Given the description of an element on the screen output the (x, y) to click on. 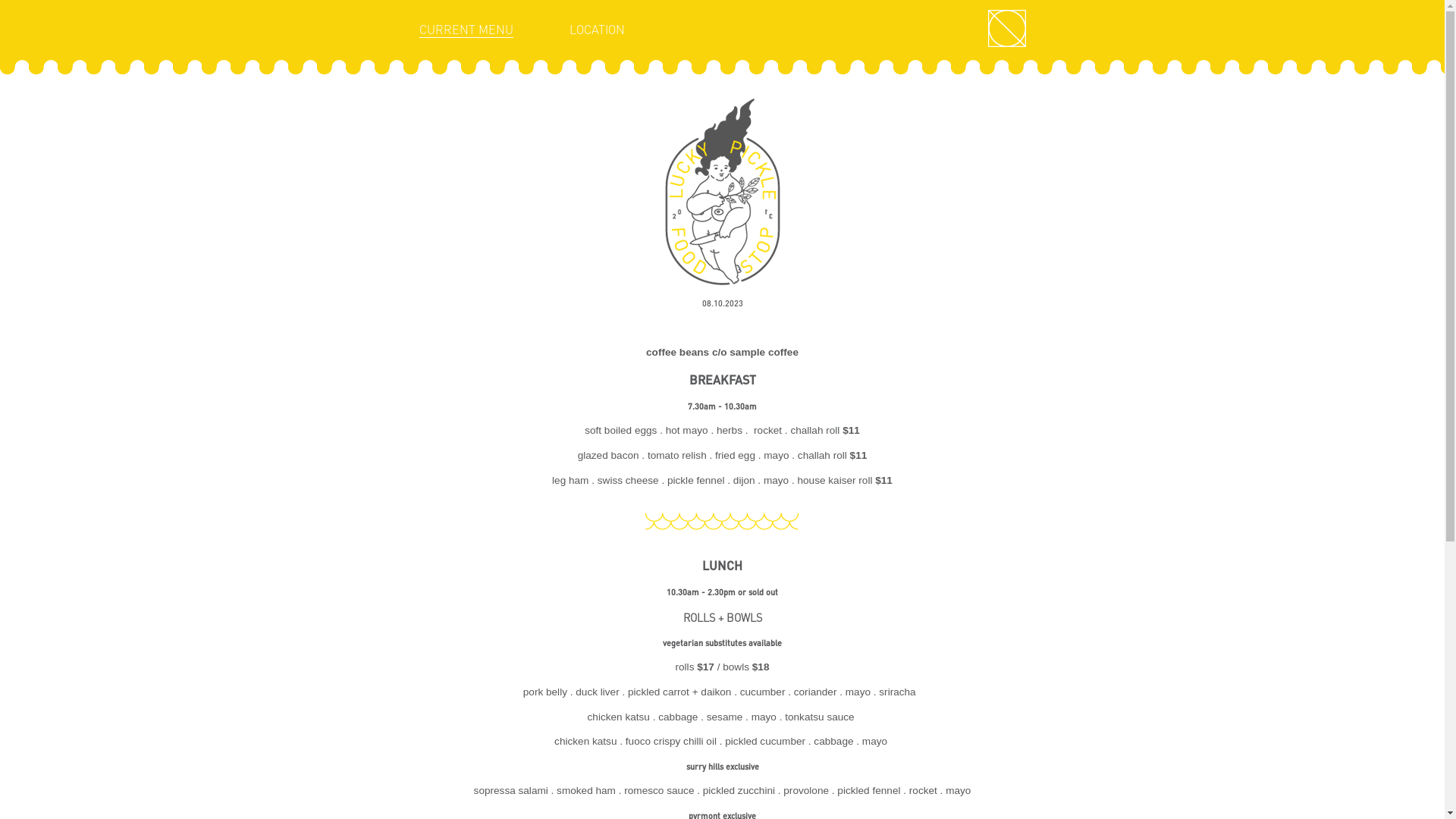
CURRENT MENU Element type: text (465, 29)
LOCATION Element type: text (596, 29)
